Given the description of an element on the screen output the (x, y) to click on. 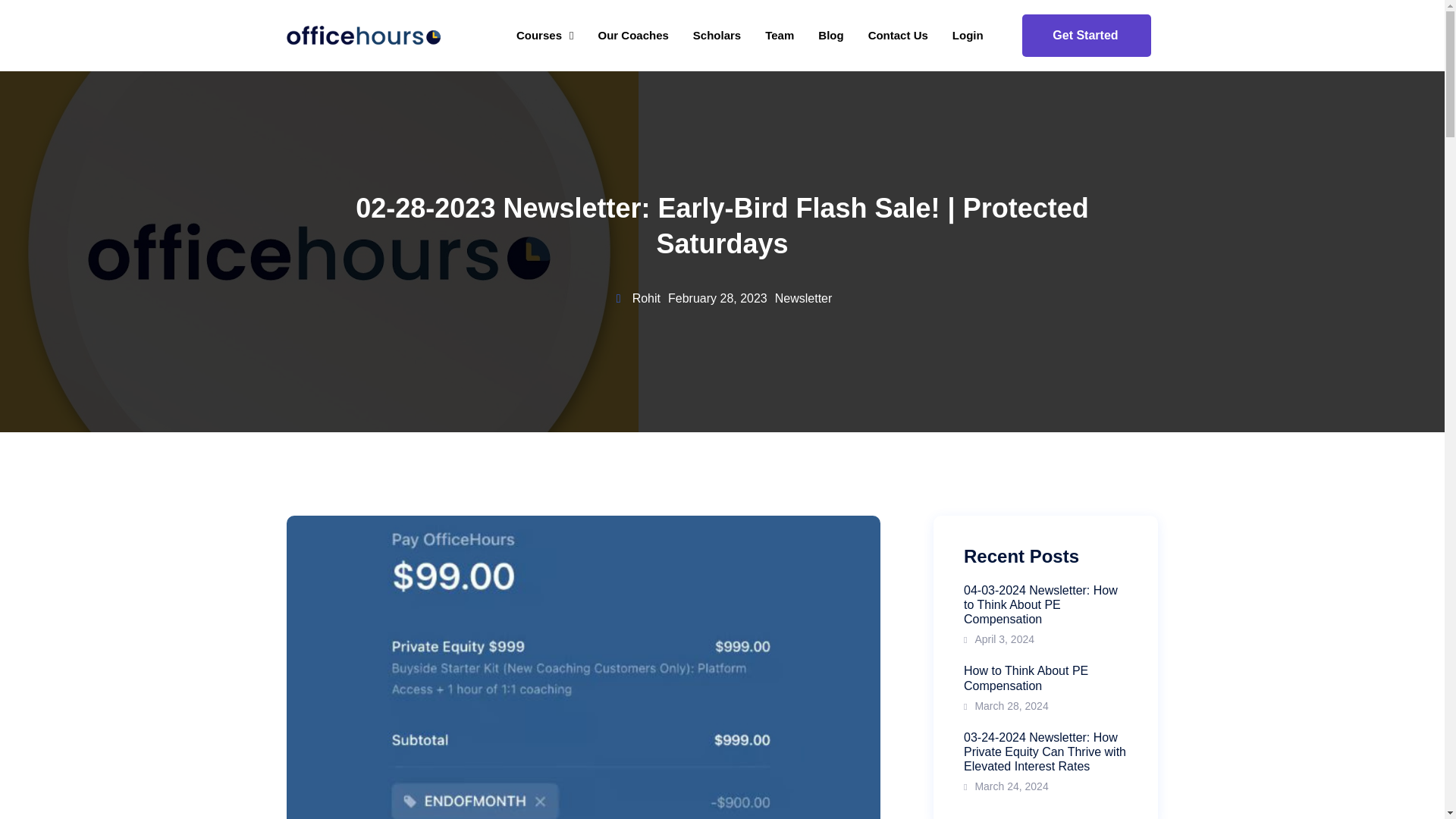
Get Started (1086, 35)
Scholars (716, 35)
Courses (544, 35)
Our Coaches (632, 35)
Contact Us (898, 35)
Login (967, 35)
Blog (831, 35)
Team (779, 35)
